Given the description of an element on the screen output the (x, y) to click on. 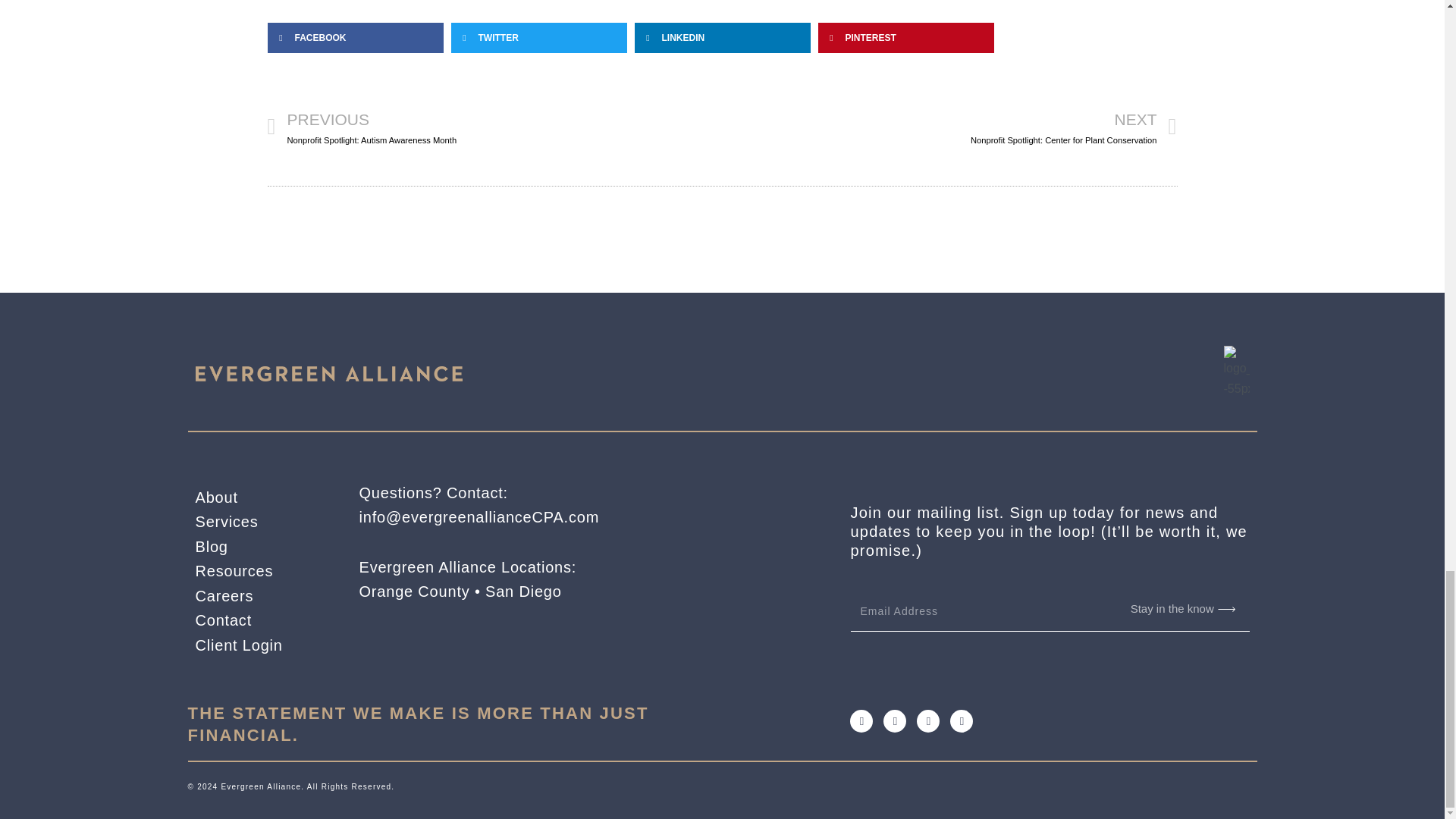
Stay in the know (1171, 609)
About (258, 497)
Careers (949, 127)
Services (258, 596)
Resources (494, 127)
Contact (258, 521)
Blog (258, 570)
Client Login (258, 620)
Stay in the know (258, 546)
